Given the description of an element on the screen output the (x, y) to click on. 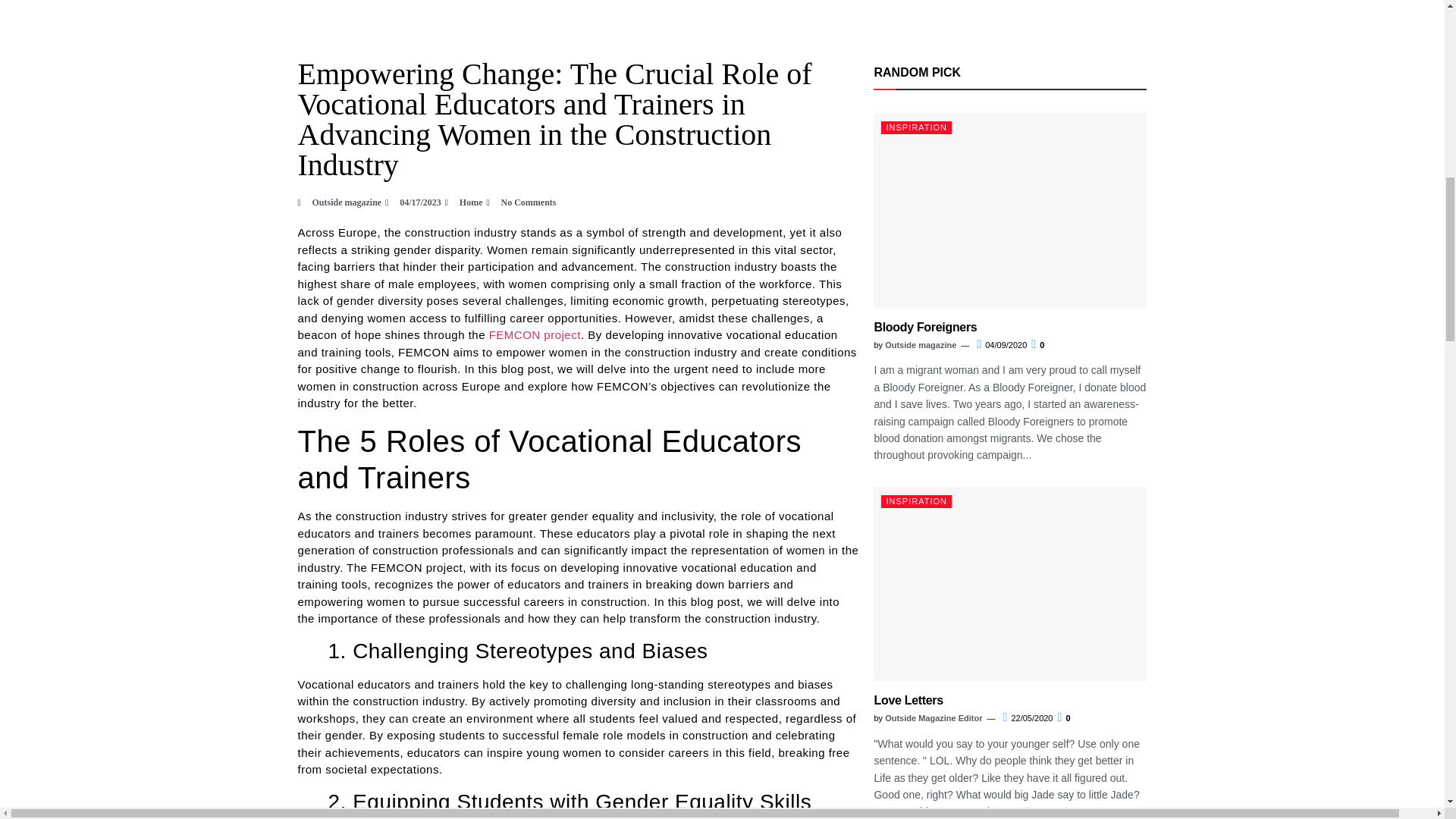
No Comments (521, 202)
FEMCON project (534, 334)
Home (471, 202)
Bloody Foreigners (924, 327)
Outside magazine (339, 202)
Outside magazine (920, 344)
INSPIRATION (915, 127)
0 (1036, 344)
